Given the description of an element on the screen output the (x, y) to click on. 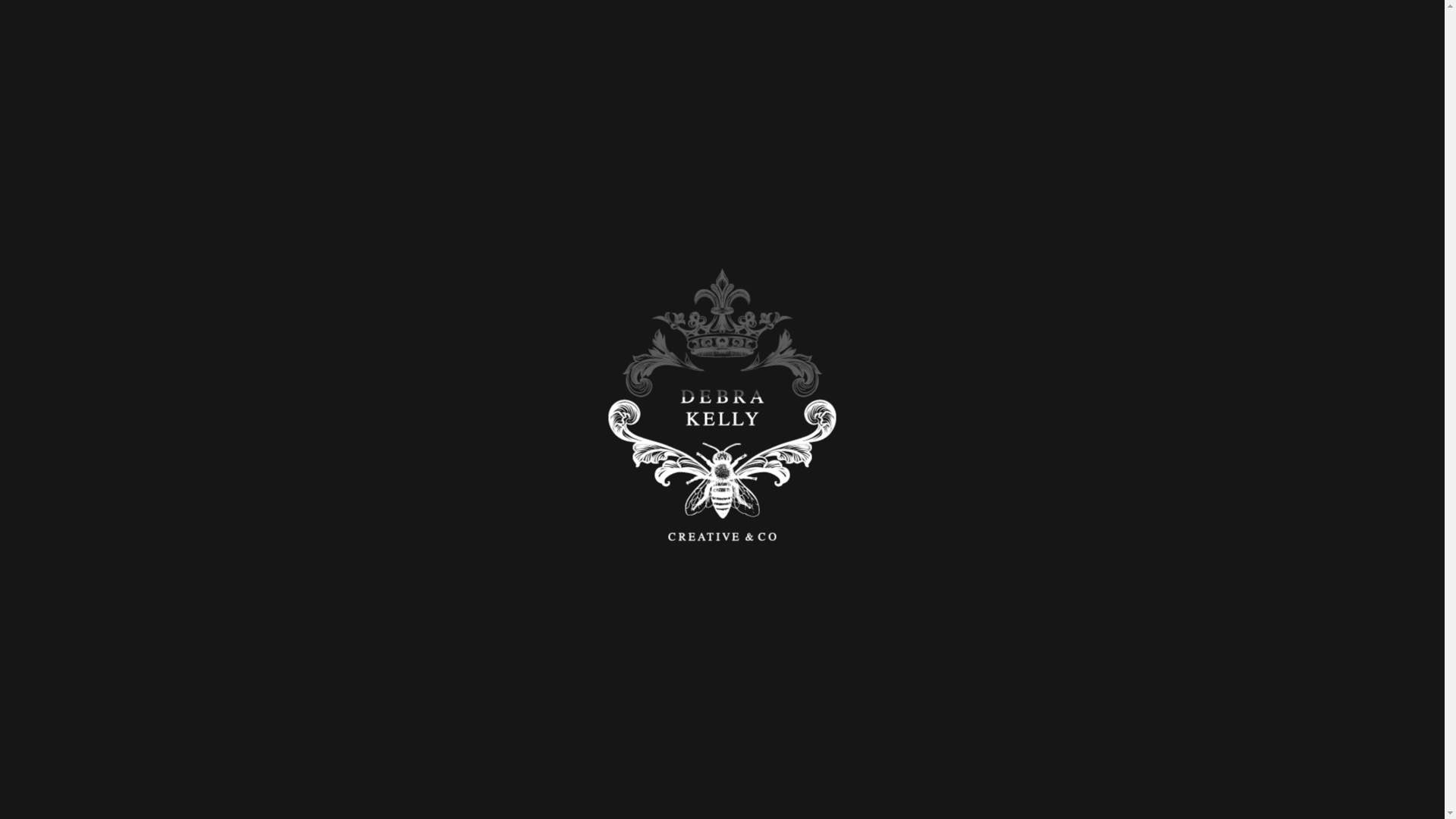
SERVICES Element type: text (1239, 42)
CONTACT US Element type: text (1376, 42)
HOME Element type: text (1059, 42)
BIO Element type: text (1301, 42)
PORTFOLIO Element type: text (1143, 42)
